Given the description of an element on the screen output the (x, y) to click on. 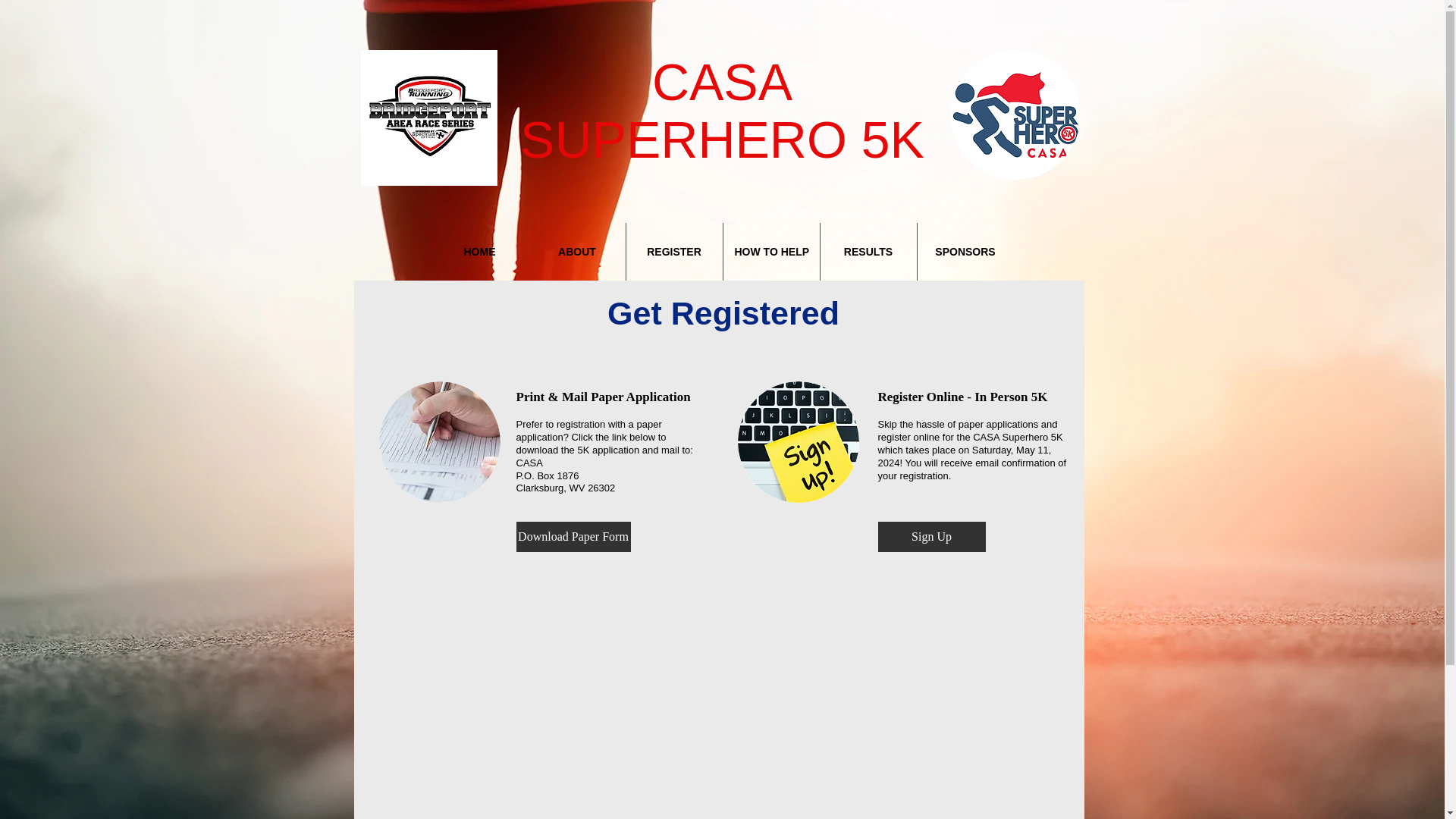
ABOUT (577, 251)
Download Paper Form (721, 110)
HOME (572, 536)
SPONSORS (478, 251)
try.png (965, 251)
Sign Up (1015, 114)
RESULTS (931, 536)
REGISTER (869, 251)
HOW TO HELP (674, 251)
